Given the description of an element on the screen output the (x, y) to click on. 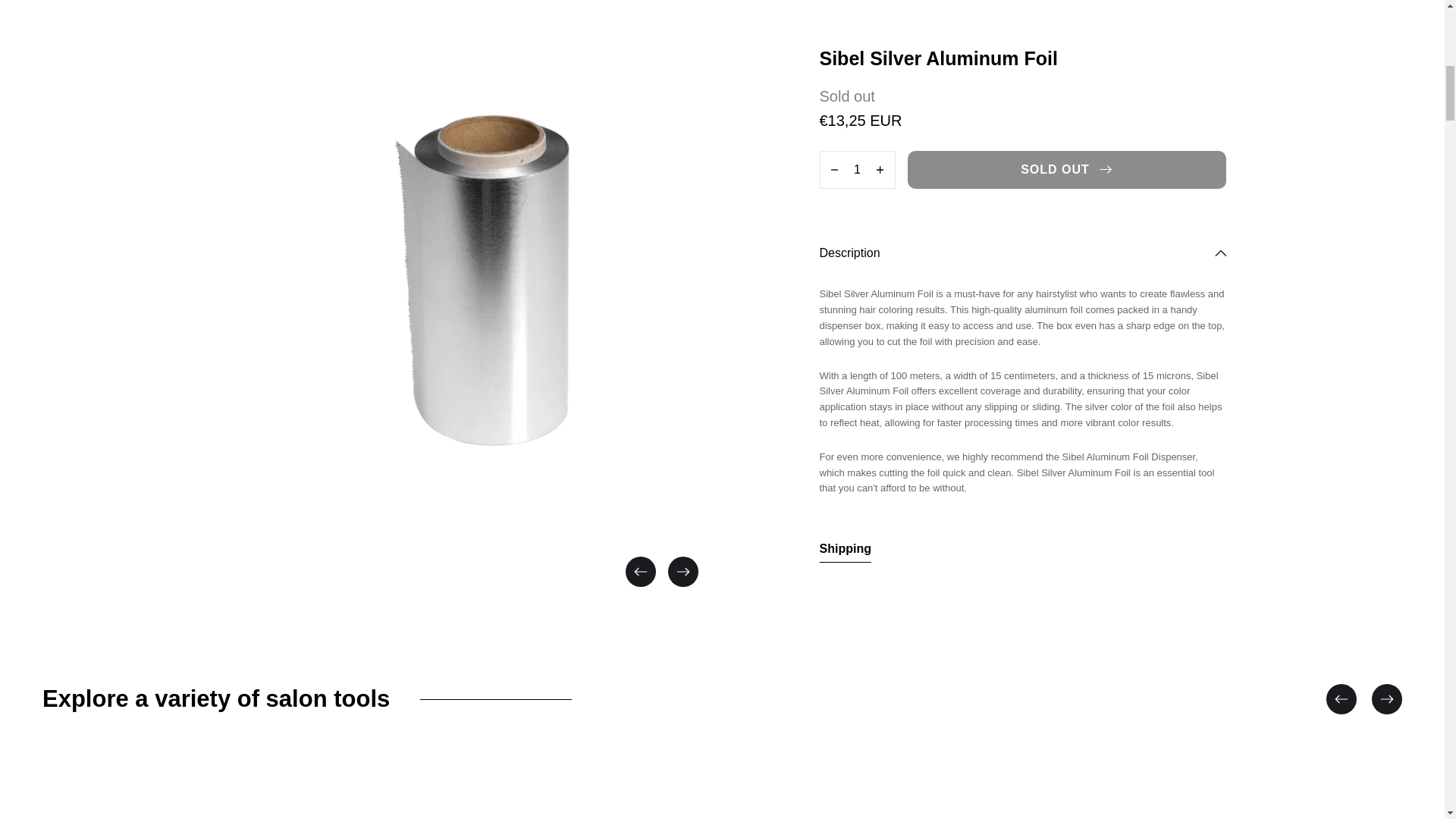
Color Mixer Maestra Metal Whisk (893, 790)
Transparant Plastic Face Shields 50 Pieces (1236, 790)
Previous (639, 571)
Next (681, 571)
MISH'MASH Tinting Bowls (550, 790)
